Given the description of an element on the screen output the (x, y) to click on. 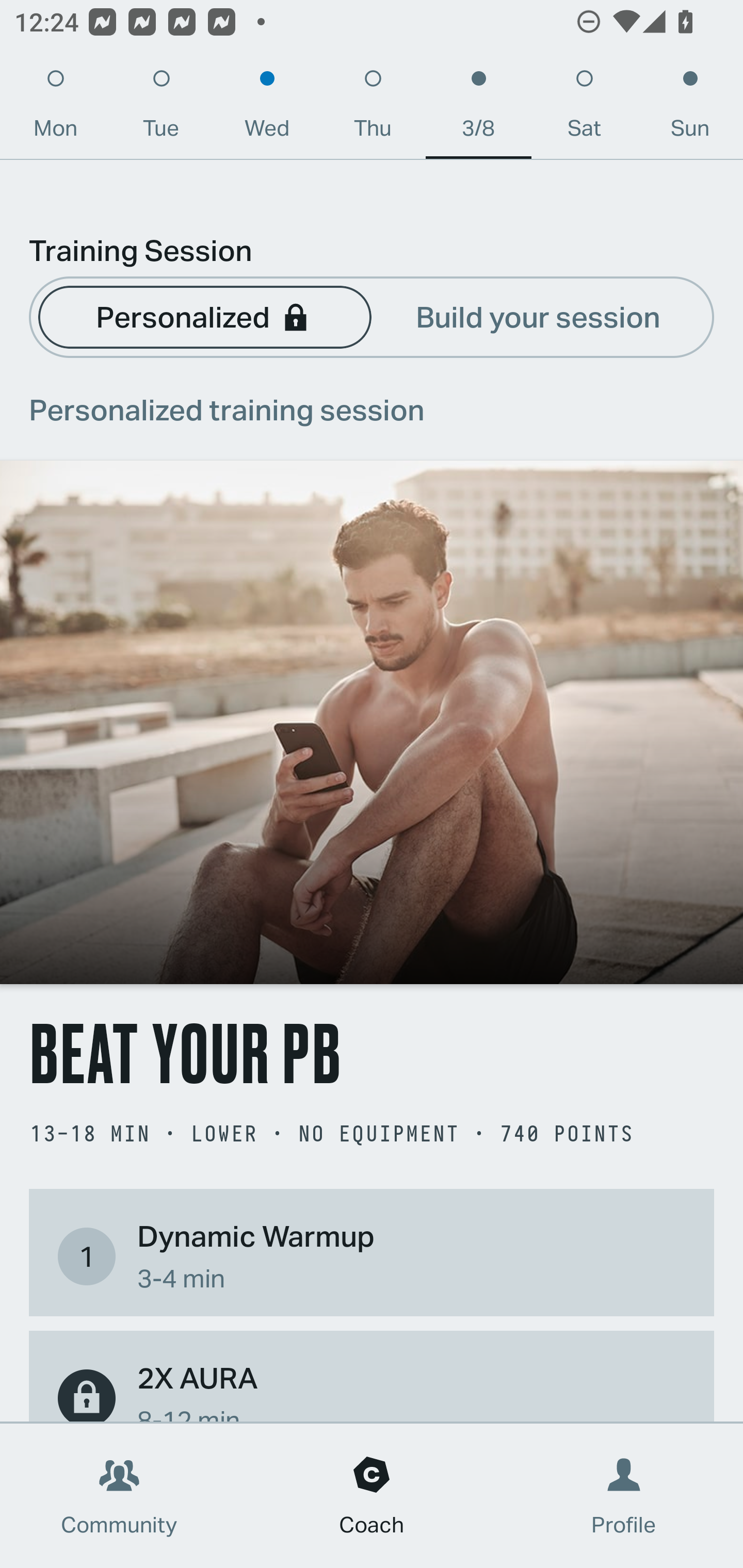
Mon (55, 108)
Tue (160, 108)
Wed (266, 108)
Thu (372, 108)
3/8 (478, 108)
Sat (584, 108)
Sun (690, 108)
Personalized (204, 315)
Build your session (538, 315)
1 Dynamic Warmup 3-4 min (371, 1256)
2X AURA 8-12 min (371, 1388)
Community (119, 1495)
Profile (624, 1495)
